Given the description of an element on the screen output the (x, y) to click on. 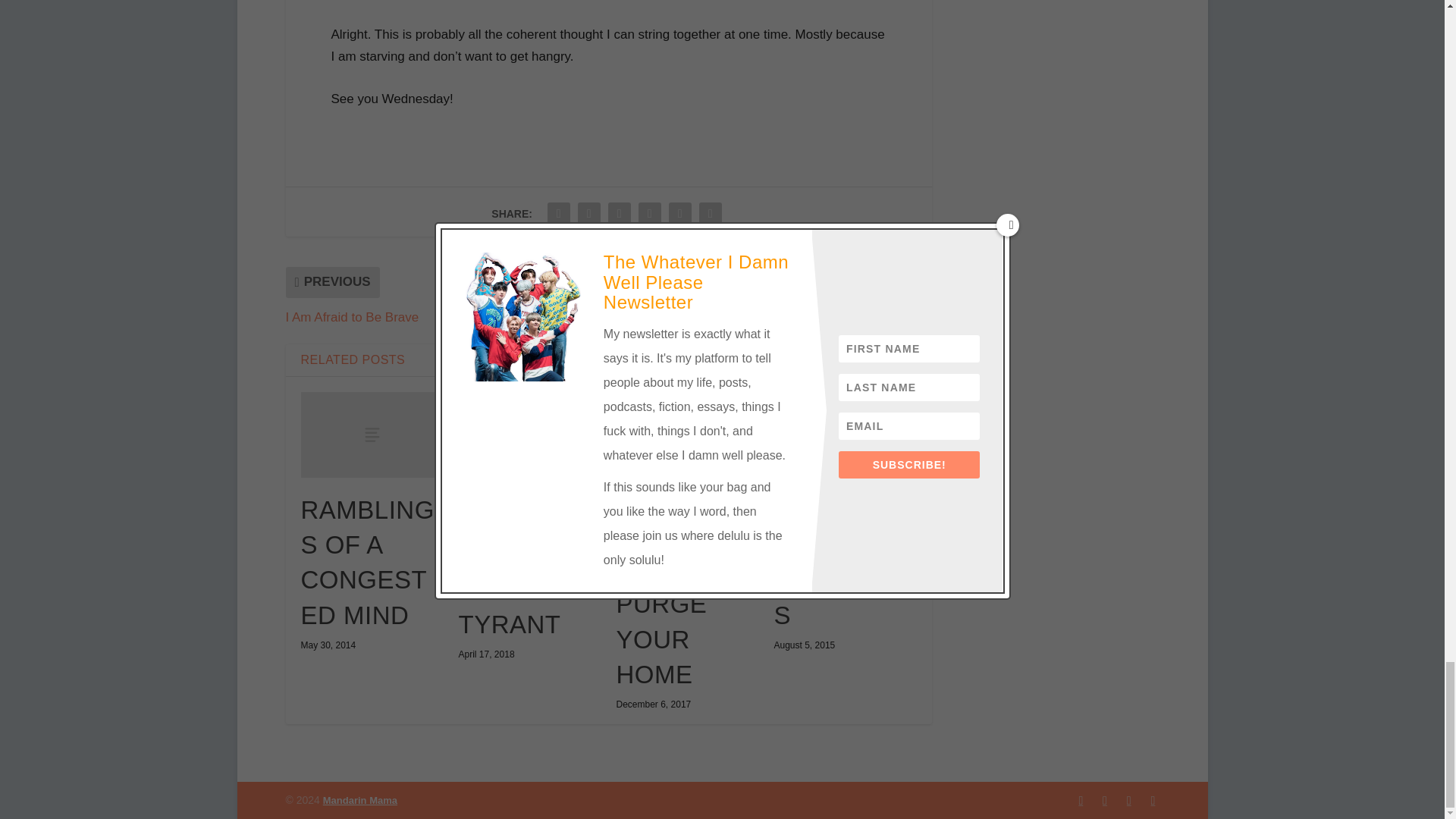
My Toddler, the Tyrant (528, 439)
Ramblings of a Congested Mind (370, 434)
More Random Thoughts (844, 434)
Share "I Can Still Be Surprised" via Print (710, 214)
Share "I Can Still Be Surprised" via Tumblr (619, 214)
Share "I Can Still Be Surprised" via Email (680, 214)
Share "I Can Still Be Surprised" via Facebook (558, 214)
Share "I Can Still Be Surprised" via LinkedIn (649, 214)
How to Angry Toy Purge Your Home (686, 429)
Share "I Can Still Be Surprised" via Twitter (588, 214)
